Given the description of an element on the screen output the (x, y) to click on. 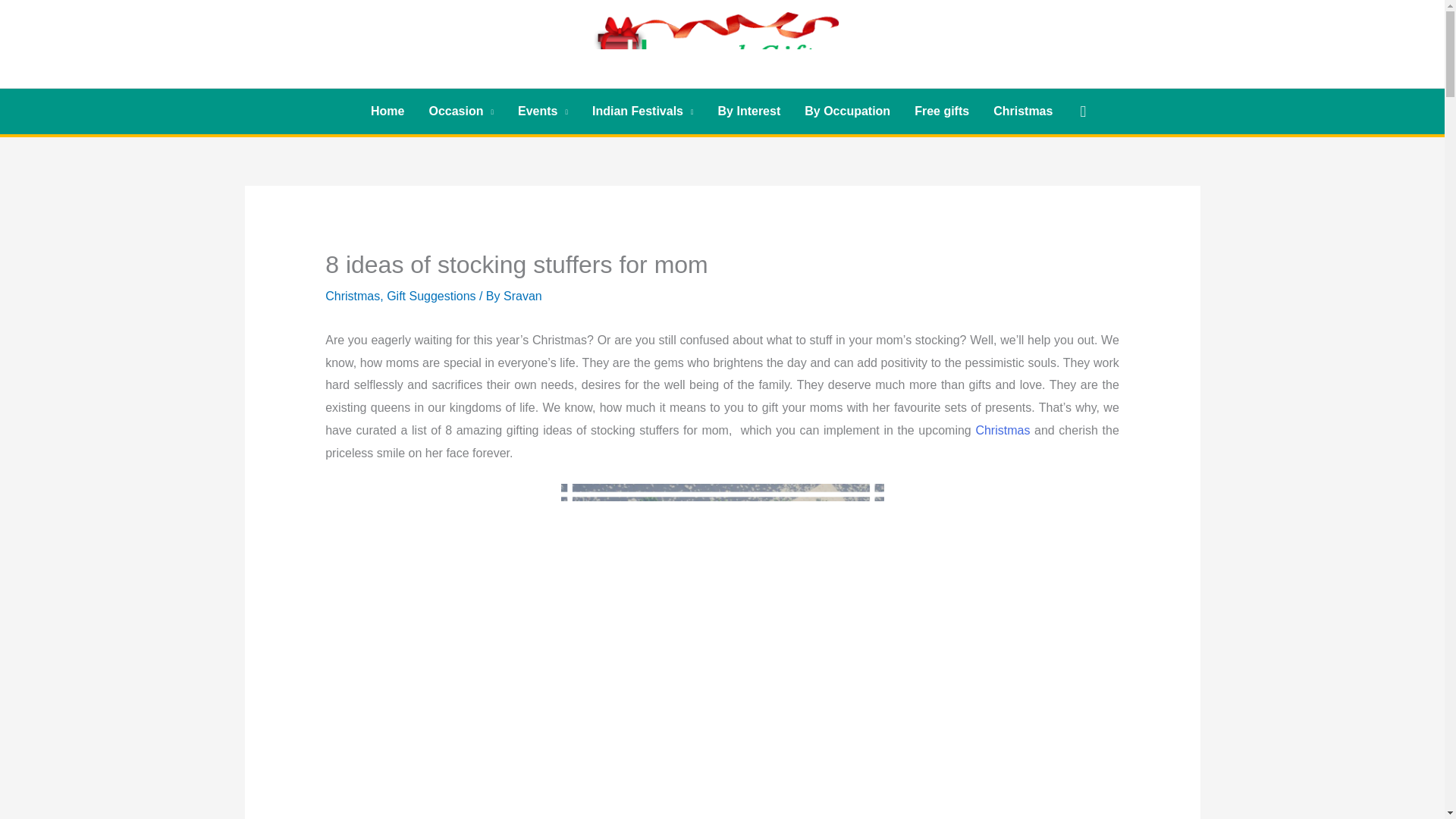
By Occupation (847, 111)
View all posts by Sravan (522, 295)
Occasion (460, 111)
Events (542, 111)
Home (387, 111)
Christmas (1022, 111)
Indian Festivals (642, 111)
Free gifts (941, 111)
By Interest (749, 111)
